Given the description of an element on the screen output the (x, y) to click on. 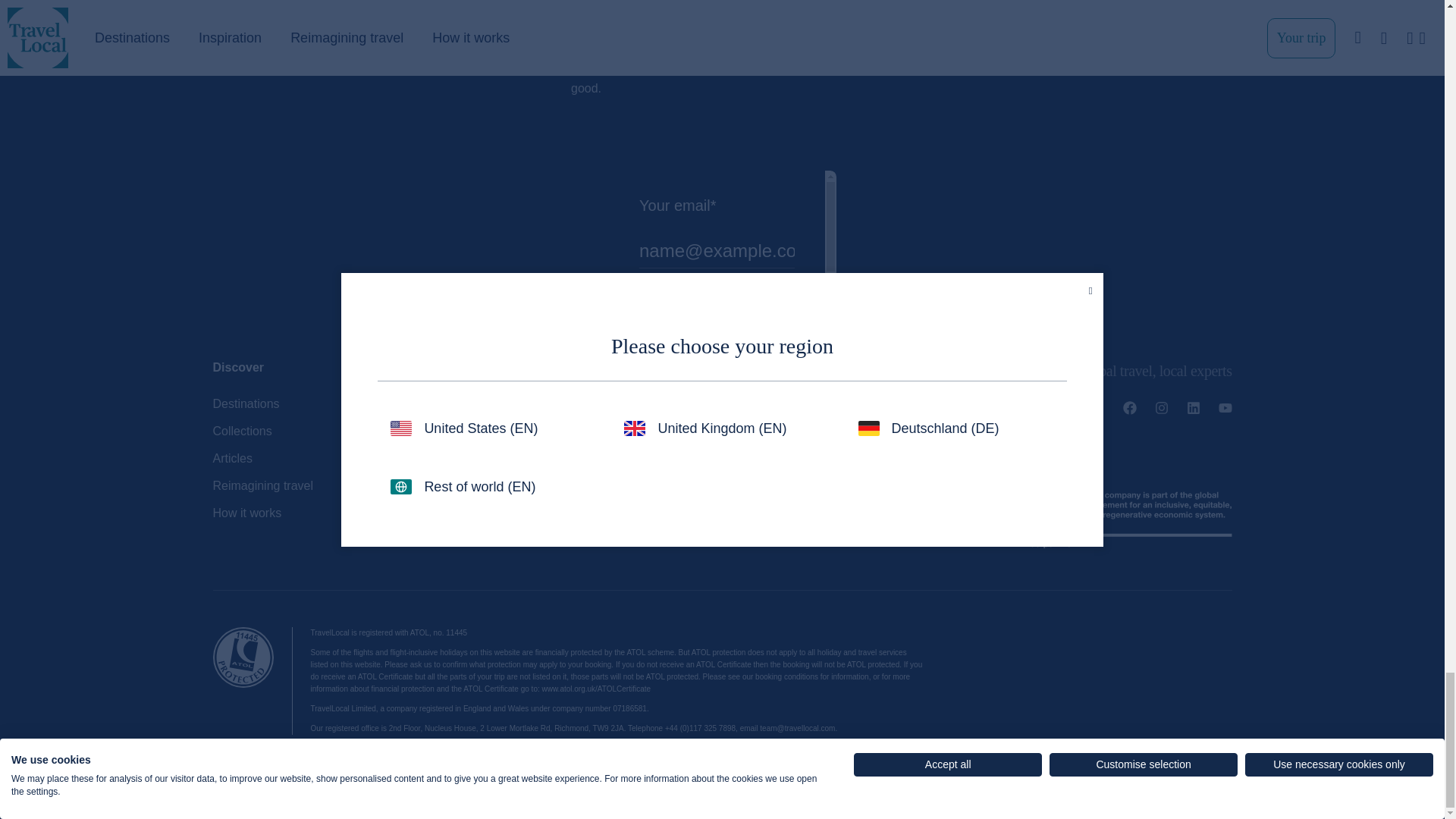
TravelLocal is ATOL member 11445 - book with confidence. (242, 657)
YouTube (1224, 410)
LinkedIn (1192, 410)
Instagram (1161, 410)
Facebook (1129, 410)
